Given the description of an element on the screen output the (x, y) to click on. 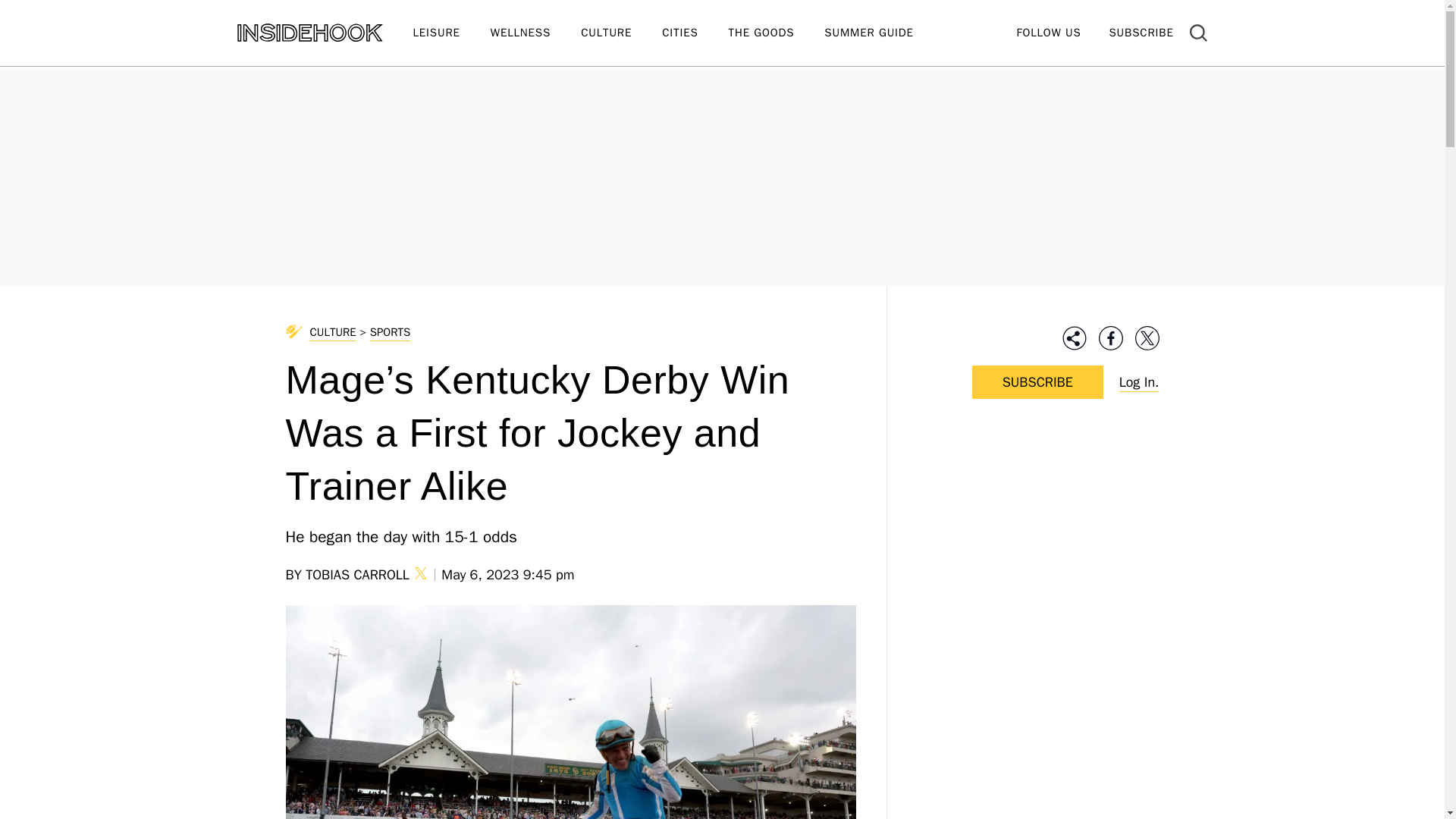
CITIES (695, 32)
CULTURE (621, 32)
THE GOODS (777, 32)
WELLNESS (535, 32)
FOLLOW US (1048, 32)
LEISURE (450, 32)
SUMMER GUIDE (883, 32)
SUBSCRIBE (1140, 32)
